Given the description of an element on the screen output the (x, y) to click on. 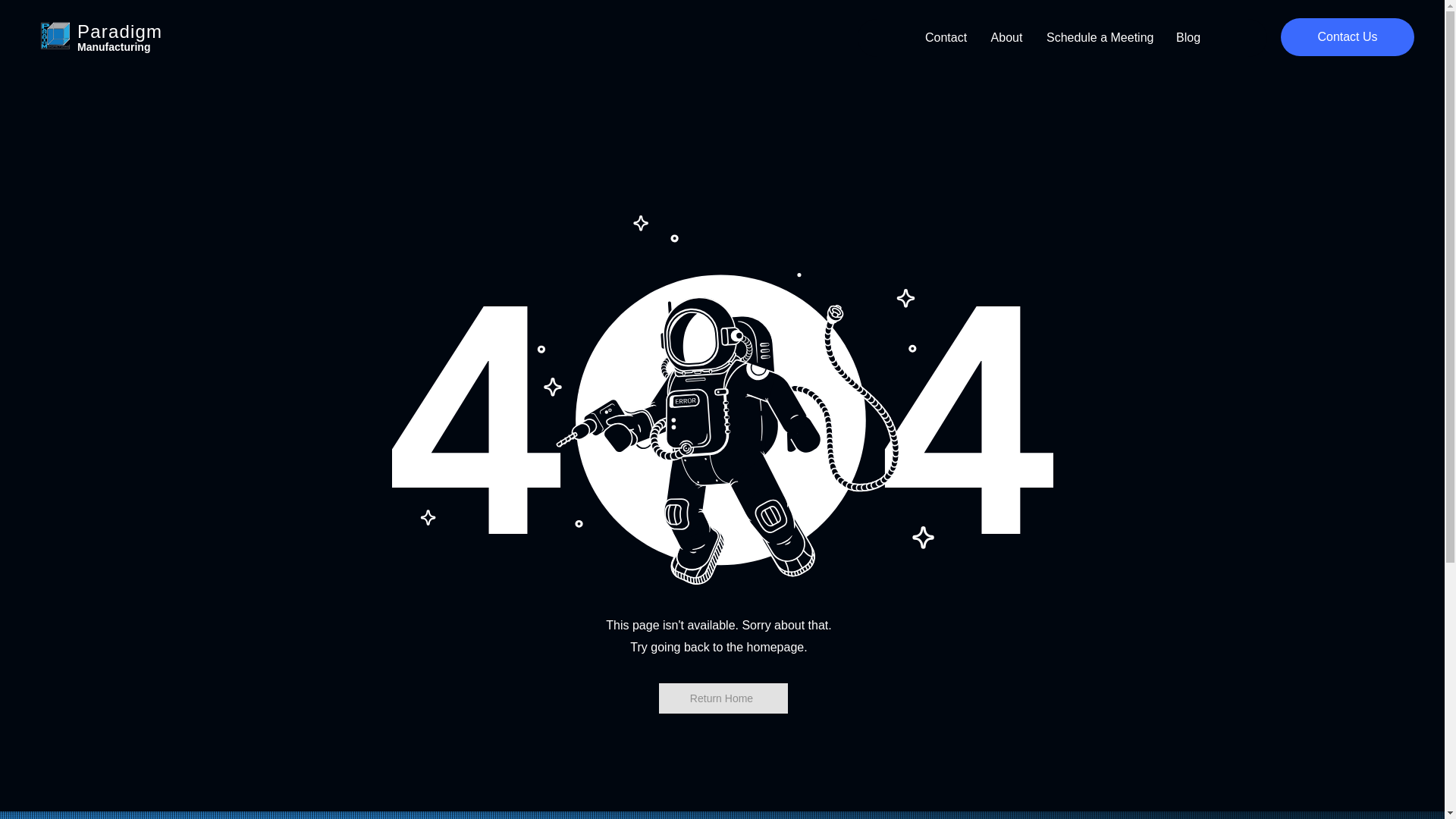
About (1005, 37)
Paradigm (119, 31)
Contact (945, 37)
Blog (1187, 37)
Return Home (722, 698)
Contact Us (1347, 37)
Schedule a Meeting (1098, 37)
